Given the description of an element on the screen output the (x, y) to click on. 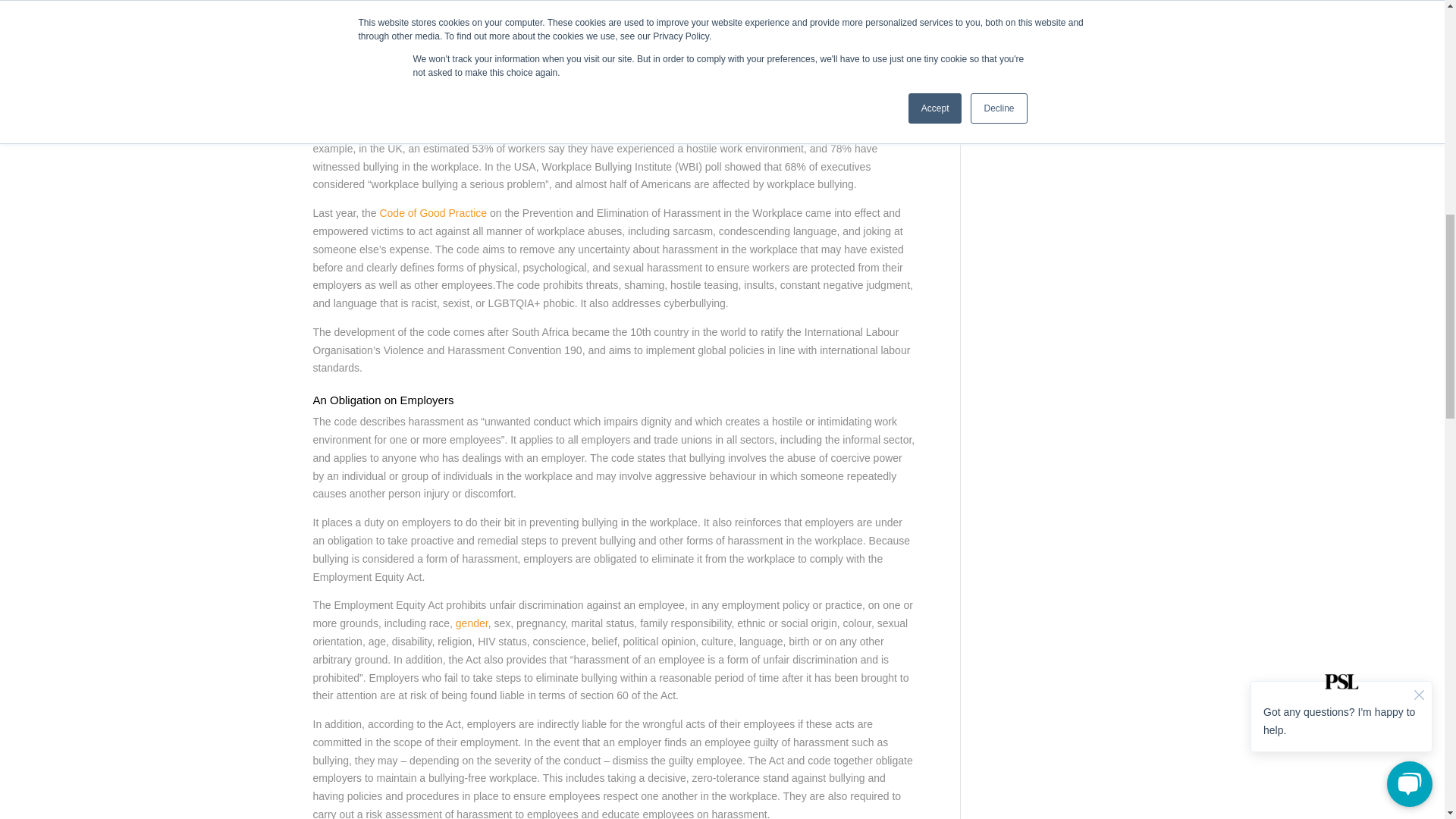
gender (471, 623)
Code of Good Practice (432, 213)
